Given the description of an element on the screen output the (x, y) to click on. 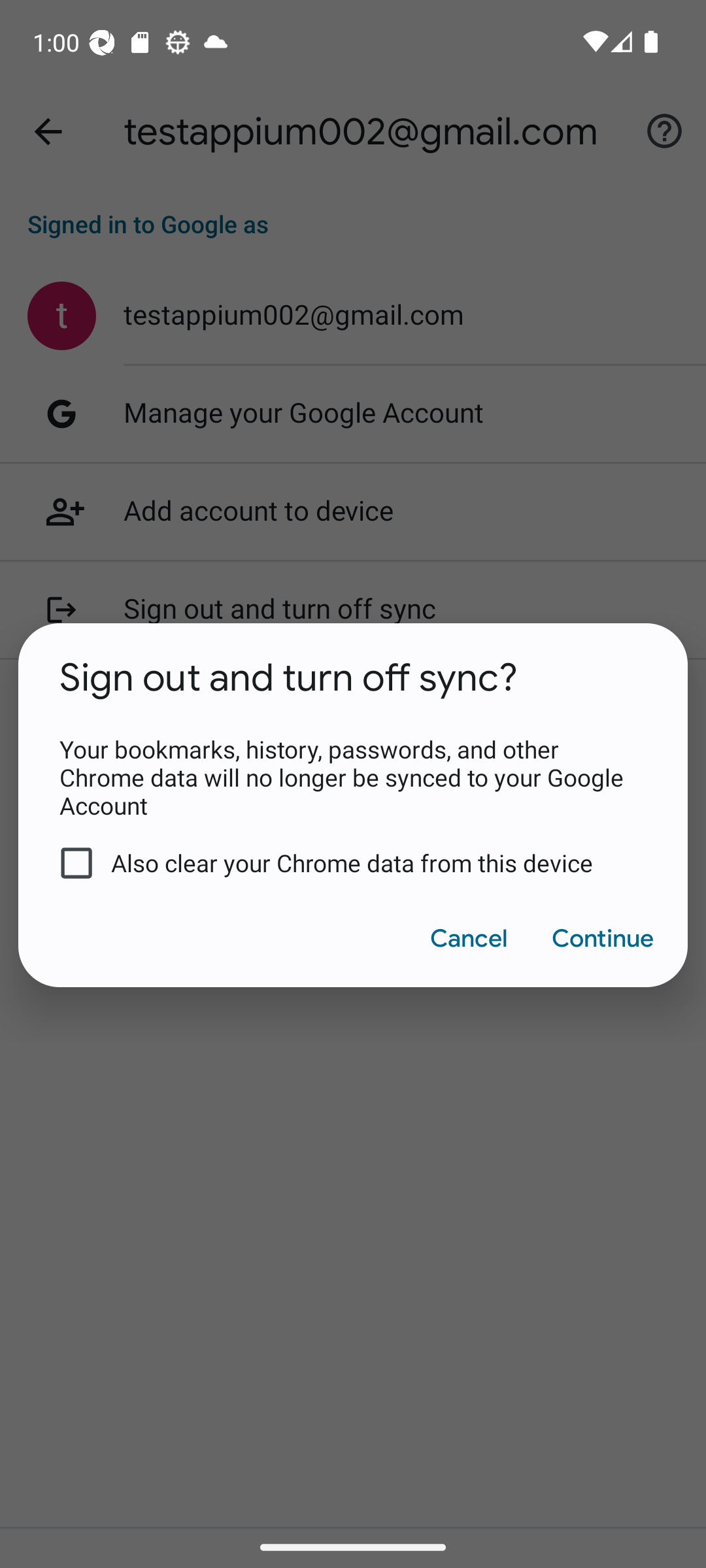
Also clear your Chrome data from this device (340, 862)
Cancel (468, 938)
Continue (601, 938)
